Given the description of an element on the screen output the (x, y) to click on. 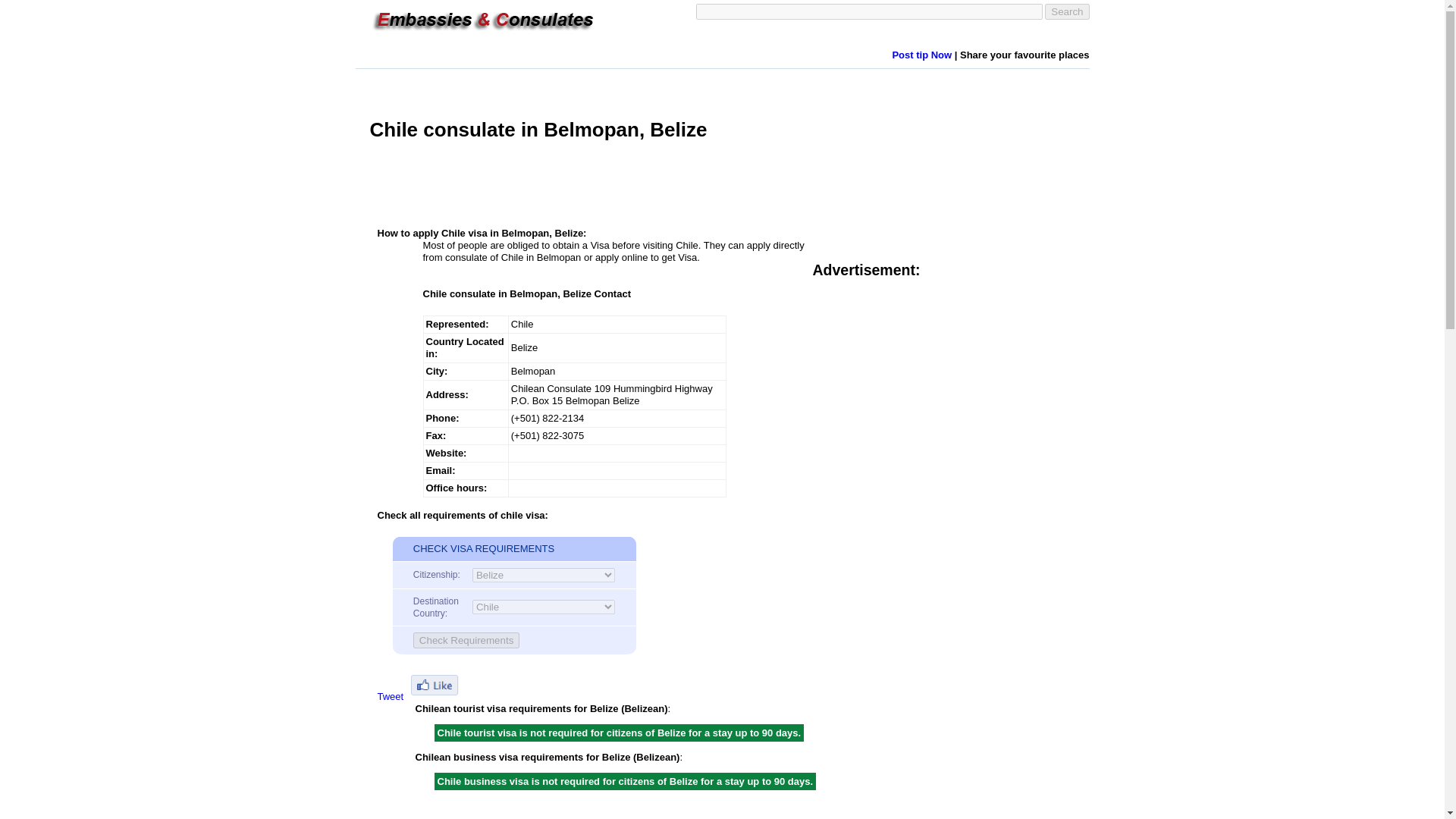
Advertisement (645, 183)
Check Requirements (466, 640)
Vietnam Travel (476, 34)
Tweet (390, 696)
Check Requirements (466, 640)
Search (1067, 11)
Advertisement (939, 394)
Post tip Now (921, 54)
Search (1067, 11)
